Given the description of an element on the screen output the (x, y) to click on. 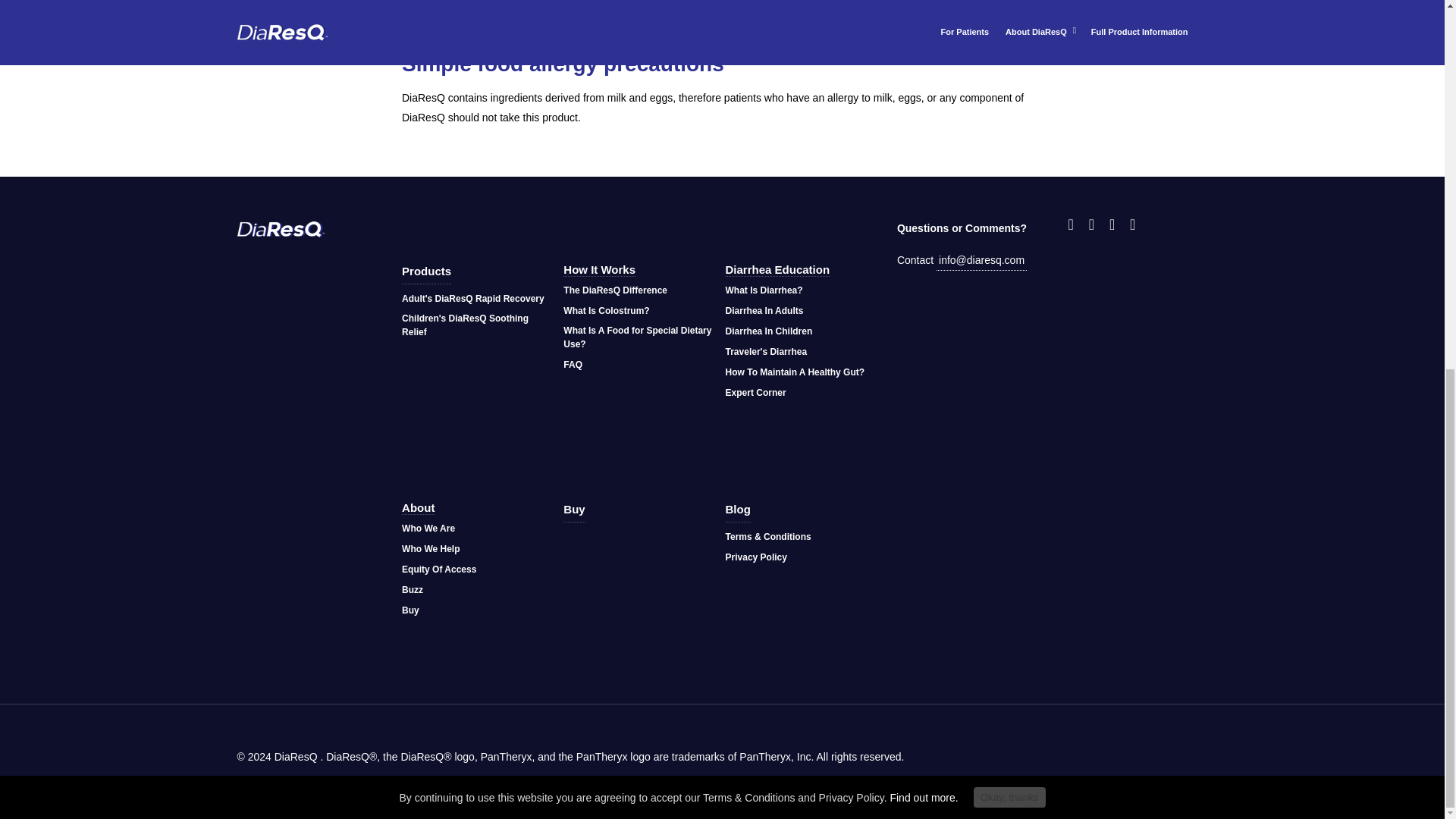
Traveler's Diarrhea (766, 351)
Blog (738, 509)
What Is Diarrhea? (764, 290)
Who We Are (427, 528)
Diarrhea In Children (768, 331)
Adult's DiaResQ Rapid Recovery (472, 298)
Diarrhea In Adults (764, 311)
FAQ (572, 364)
Products (426, 272)
Equity Of Access (438, 569)
The DiaResQ Difference (614, 290)
What Is Colostrum? (606, 311)
Who We Help (430, 548)
Children's DiaResQ Soothing Relief (477, 325)
What Is A Food for Special Dietary Use? (639, 337)
